Given the description of an element on the screen output the (x, y) to click on. 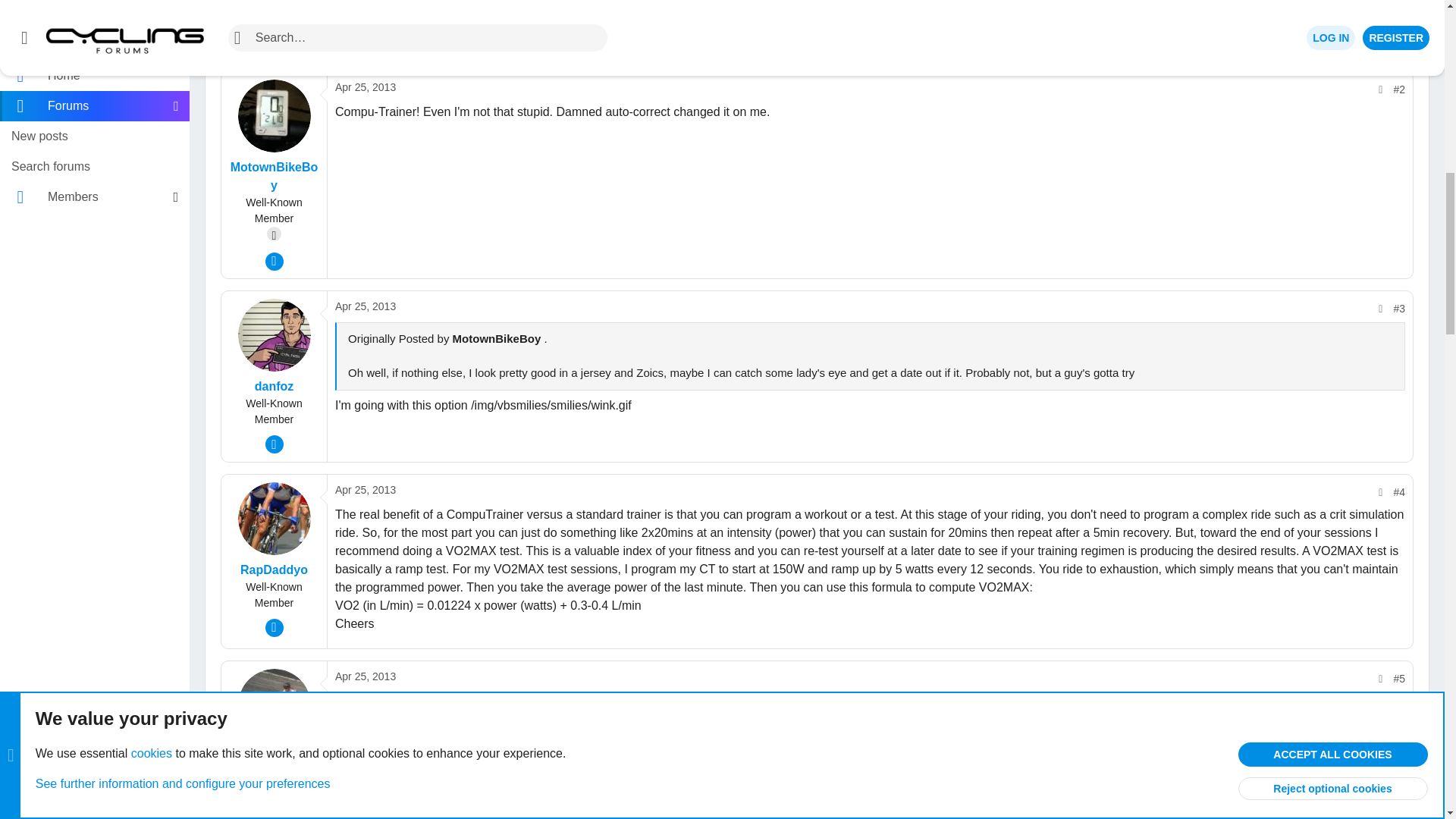
Apr 25, 2013 at 2:13 PM (365, 87)
Apr 25, 2013 at 9:08 PM (365, 676)
Apr 25, 2013 at 2:36 PM (365, 490)
Apr 25, 2013 at 2:25 PM (365, 306)
